Given the description of an element on the screen output the (x, y) to click on. 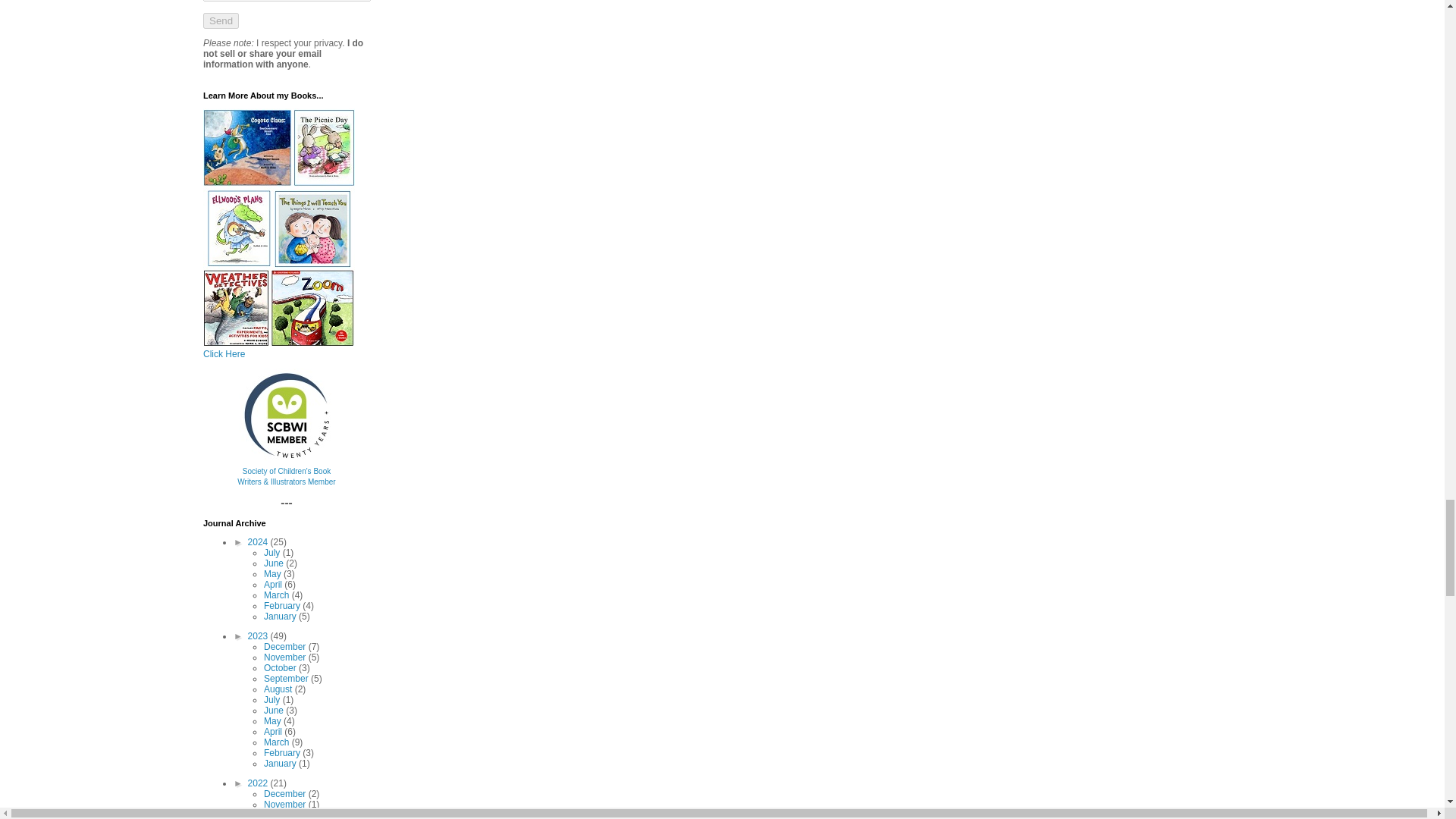
Send (220, 20)
